Given the description of an element on the screen output the (x, y) to click on. 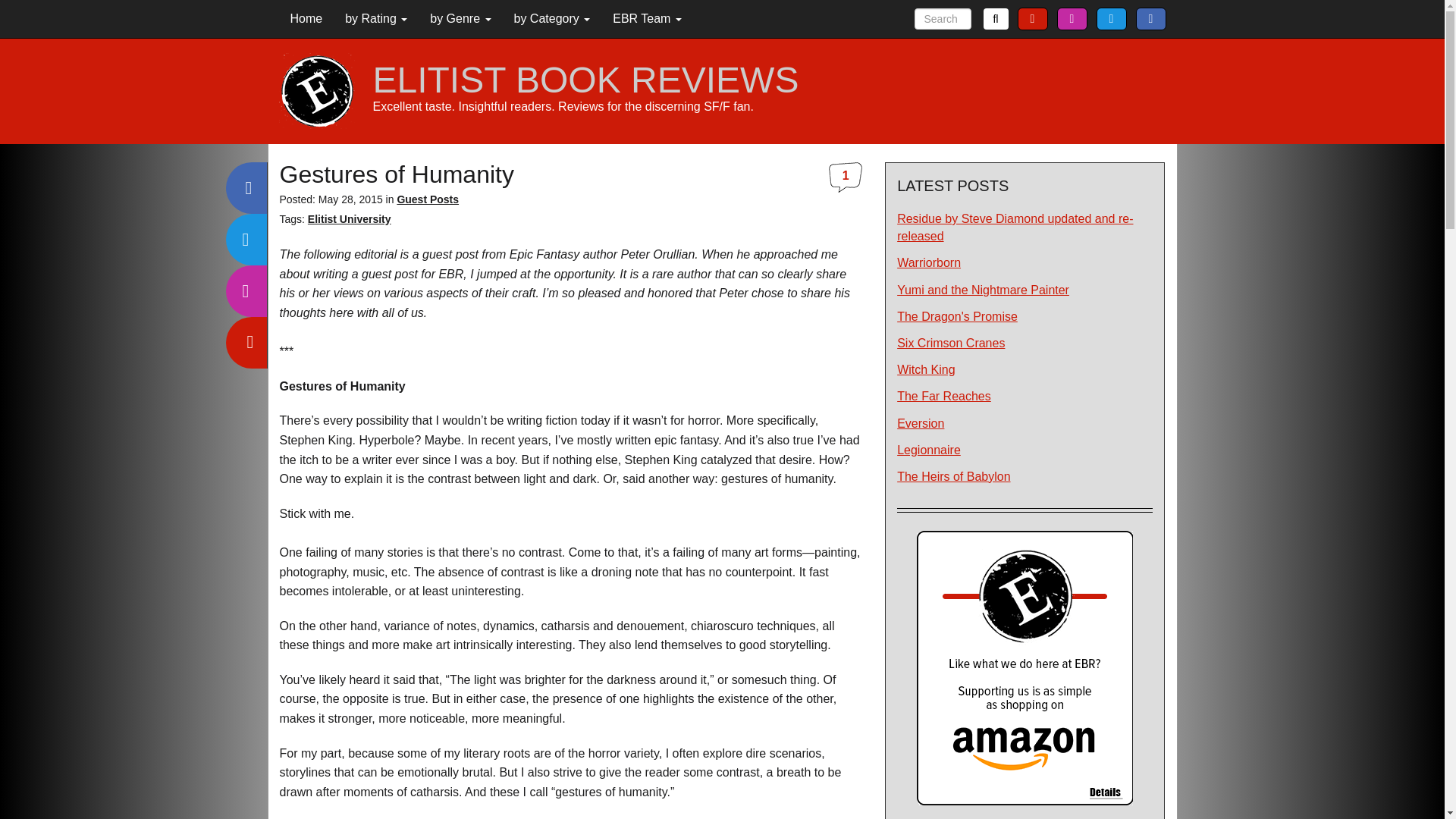
by Rating (376, 18)
Home (306, 18)
by Genre (460, 18)
Home (306, 18)
by Category (551, 18)
by Rating (376, 18)
by Genre (460, 18)
